Given the description of an element on the screen output the (x, y) to click on. 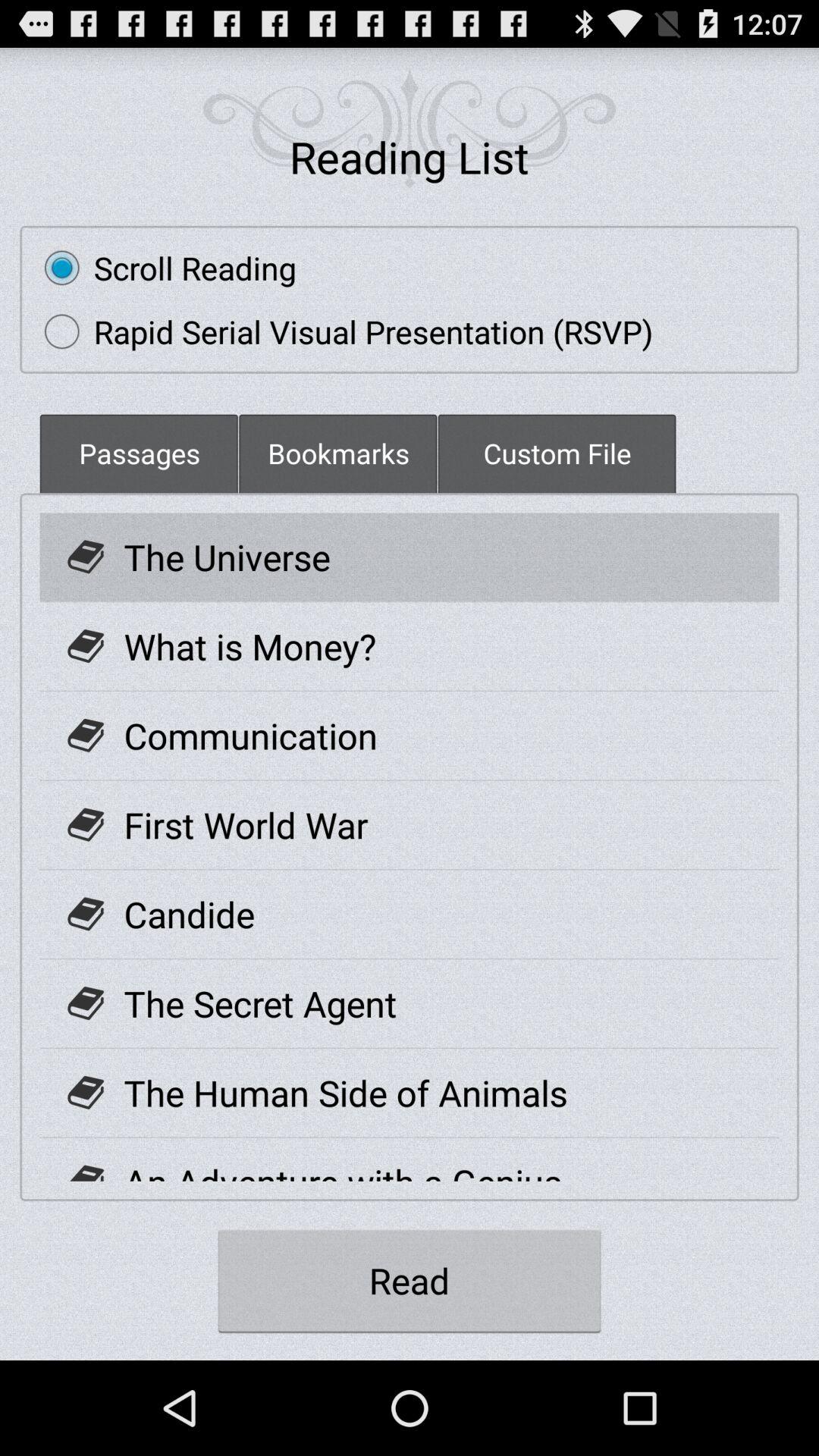
swipe to the passages item (138, 453)
